Given the description of an element on the screen output the (x, y) to click on. 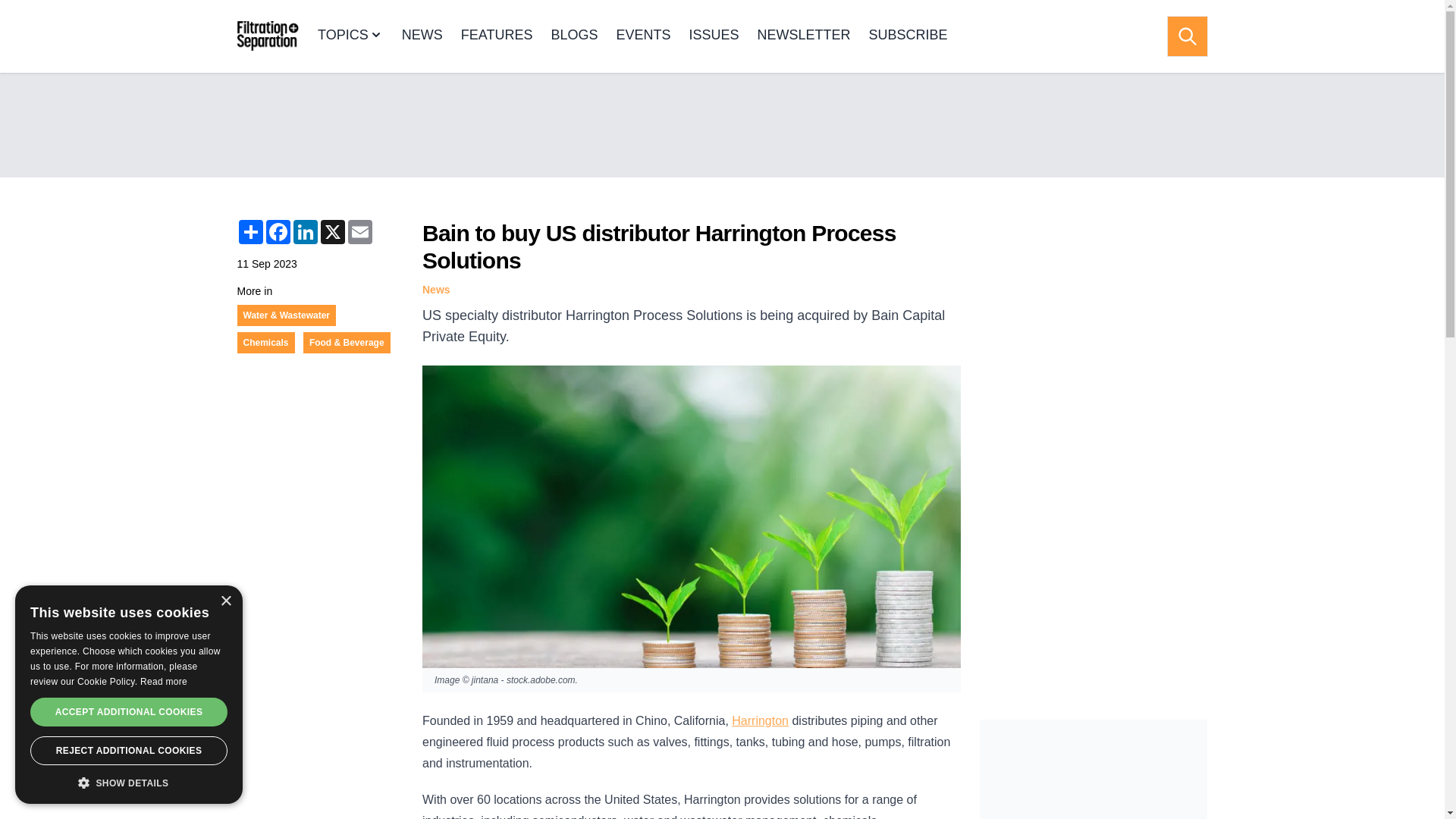
EVENTS (642, 36)
NEWS (421, 36)
Facebook (277, 232)
TOPICS (350, 36)
3rd party ad content (721, 124)
BLOGS (573, 36)
News (435, 289)
3rd party ad content (1093, 769)
FEATURES (496, 36)
ISSUES (713, 36)
SUBSCRIBE (908, 36)
Chemicals (265, 342)
X (332, 232)
LinkedIn (304, 232)
NEWSLETTER (803, 36)
